Given the description of an element on the screen output the (x, y) to click on. 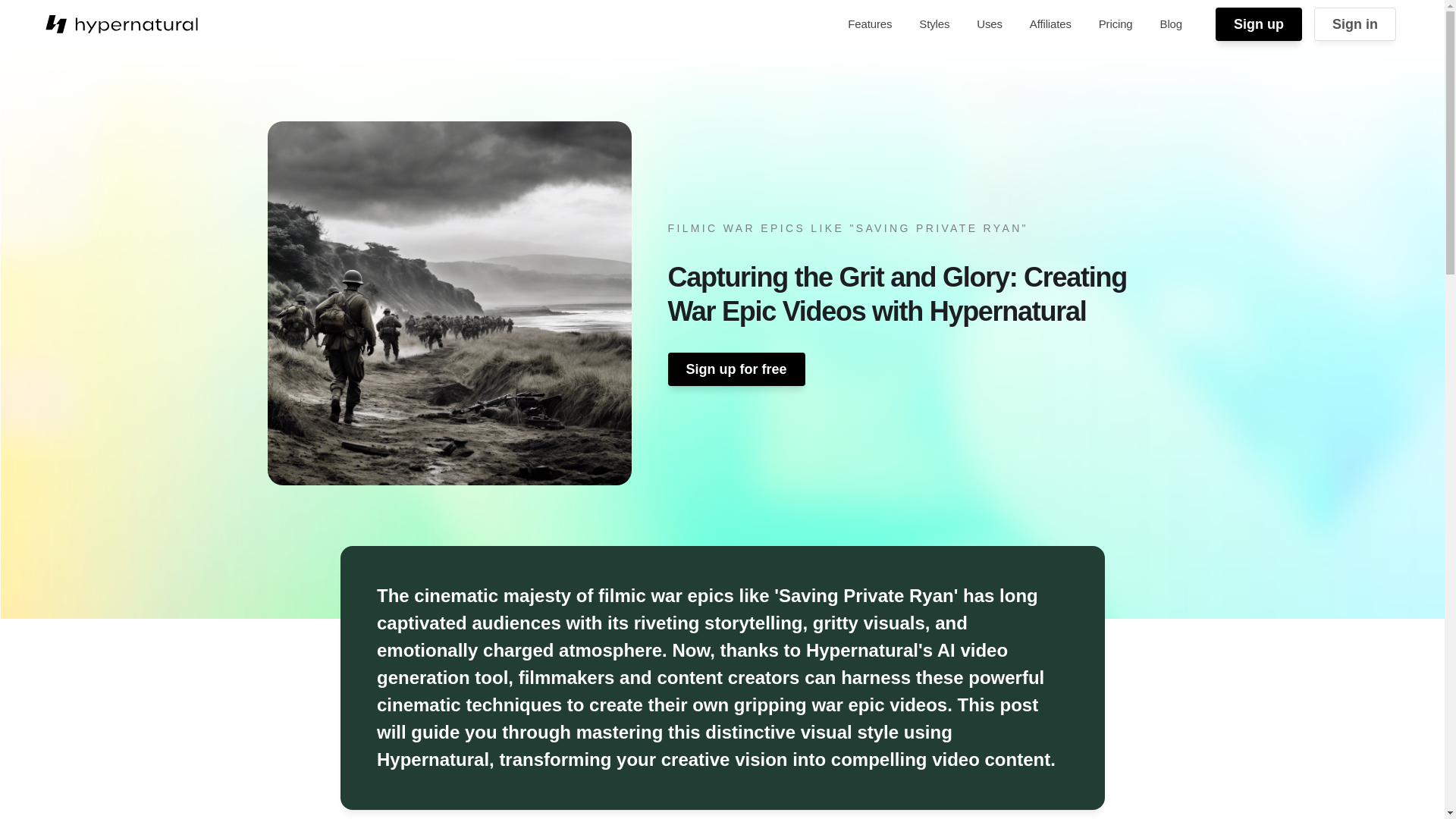
Styles (934, 23)
Sign up (1258, 23)
Features (869, 23)
Pricing (1115, 23)
Affiliates (1050, 23)
Sign in (1355, 23)
Blog (1171, 23)
Sign up for free (735, 368)
Uses (989, 23)
